Given the description of an element on the screen output the (x, y) to click on. 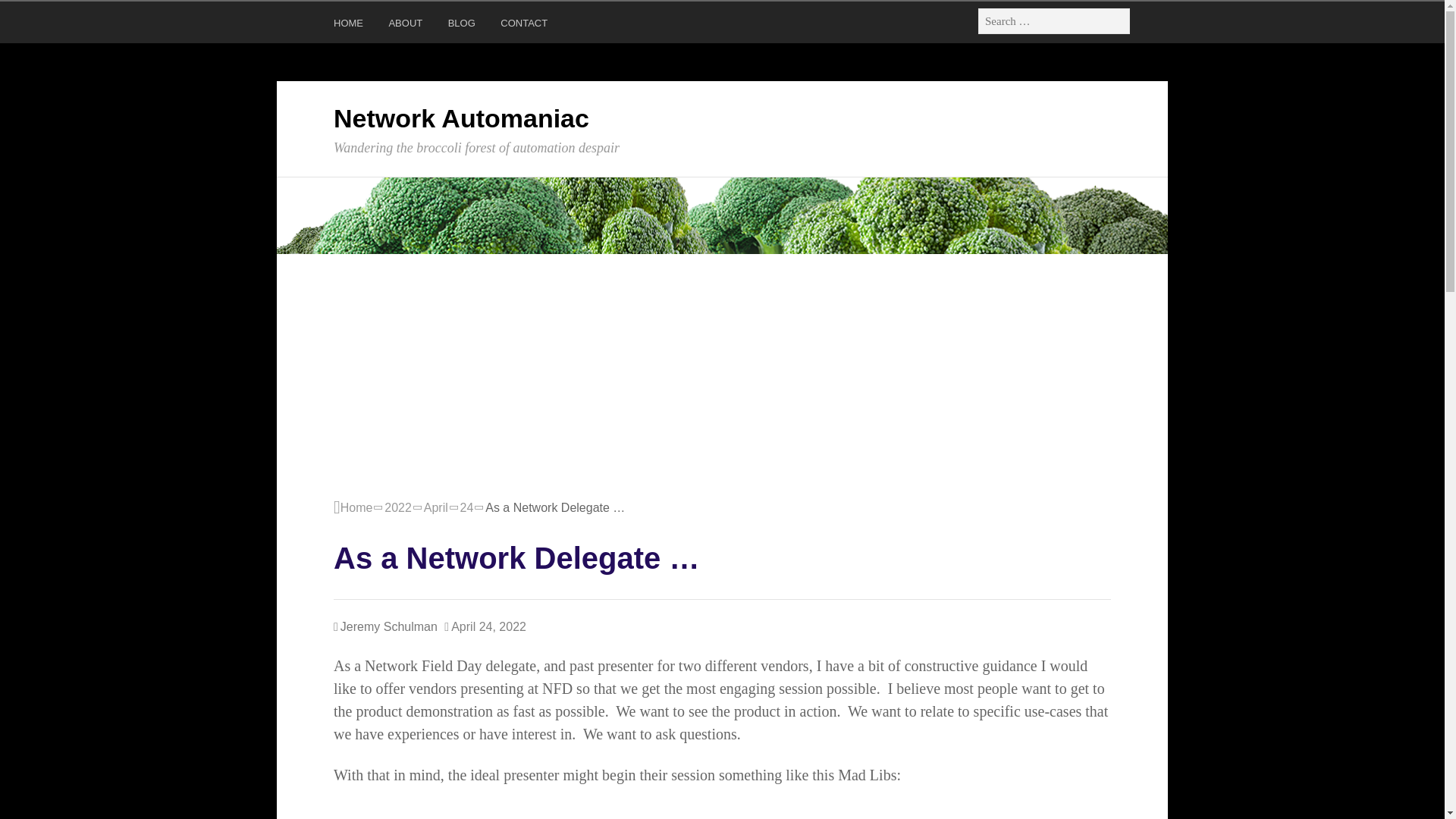
Home (352, 507)
ABOUT (407, 26)
April (435, 507)
CONTACT (525, 26)
Search (30, 15)
2022 (398, 507)
Jeremy Schulman (385, 626)
BLOG (463, 26)
Posts by Jeremy Schulman (385, 626)
Sunday, April 24, 2022, 4:59 pm (484, 627)
